Given the description of an element on the screen output the (x, y) to click on. 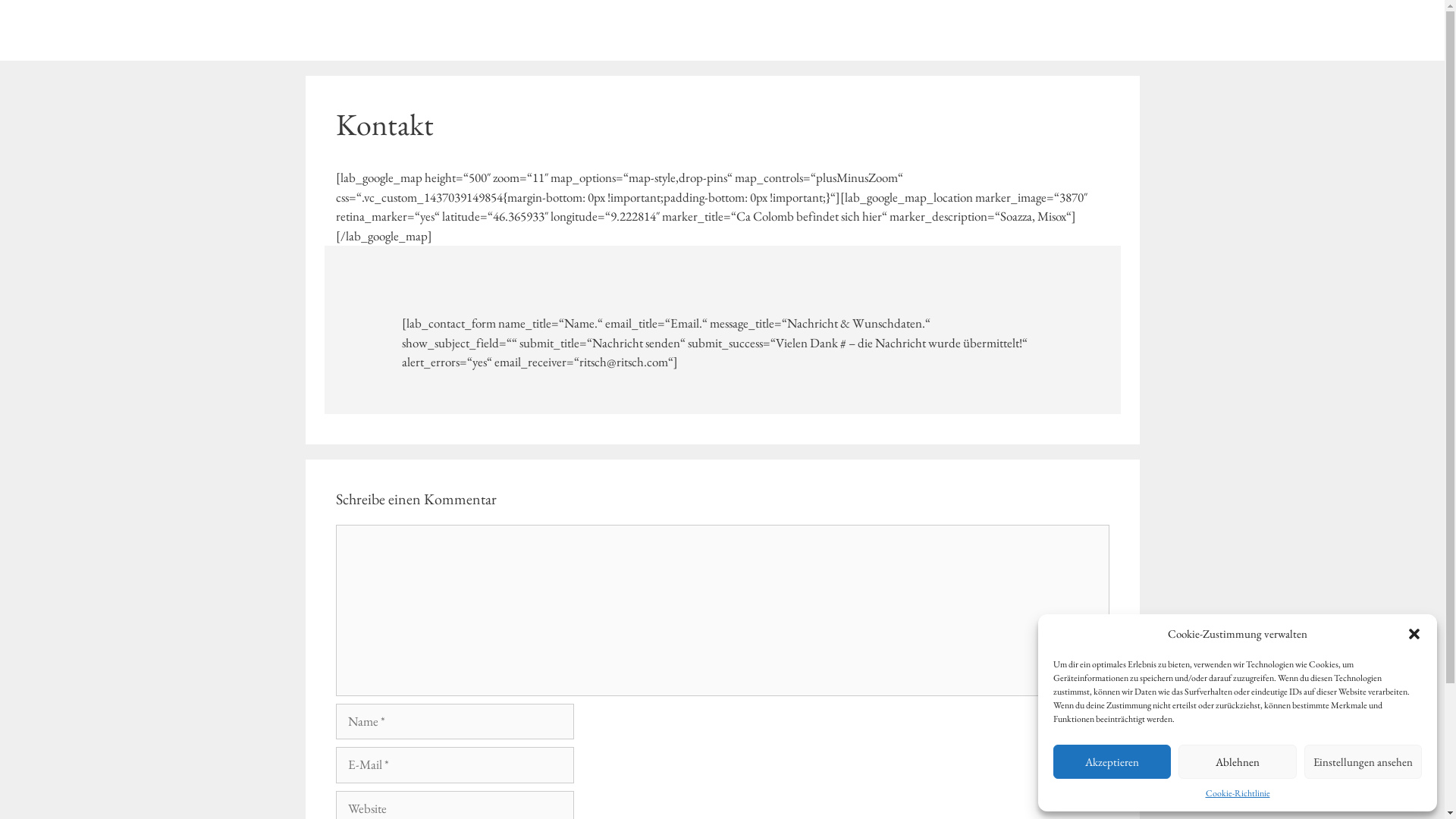
Ablehnen Element type: text (1236, 761)
Akzeptieren Element type: text (1111, 761)
Cookie-Richtlinie Element type: text (1237, 793)
Einstellungen ansehen Element type: text (1362, 761)
